Given the description of an element on the screen output the (x, y) to click on. 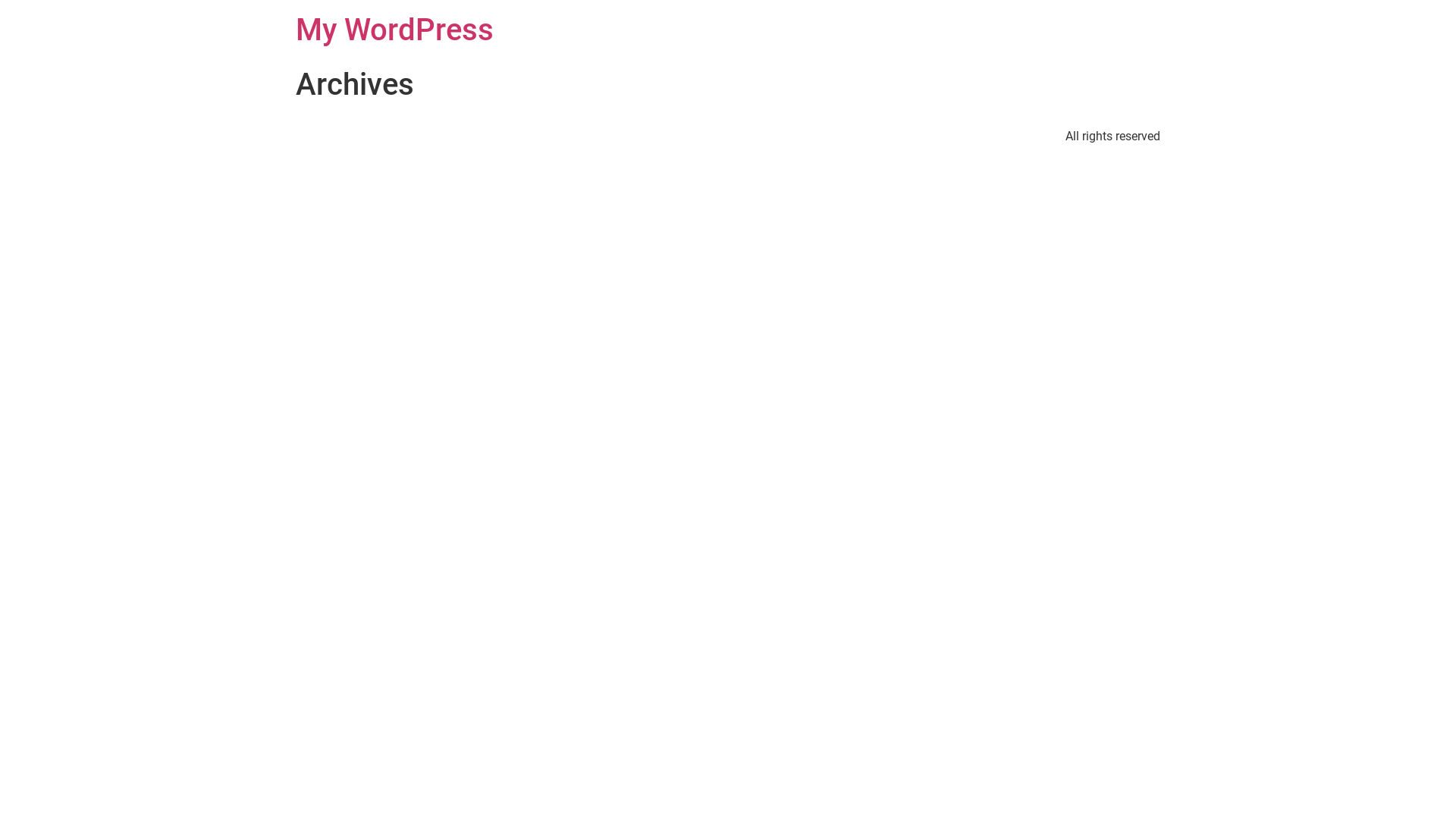
My WordPress Element type: text (394, 29)
